Given the description of an element on the screen output the (x, y) to click on. 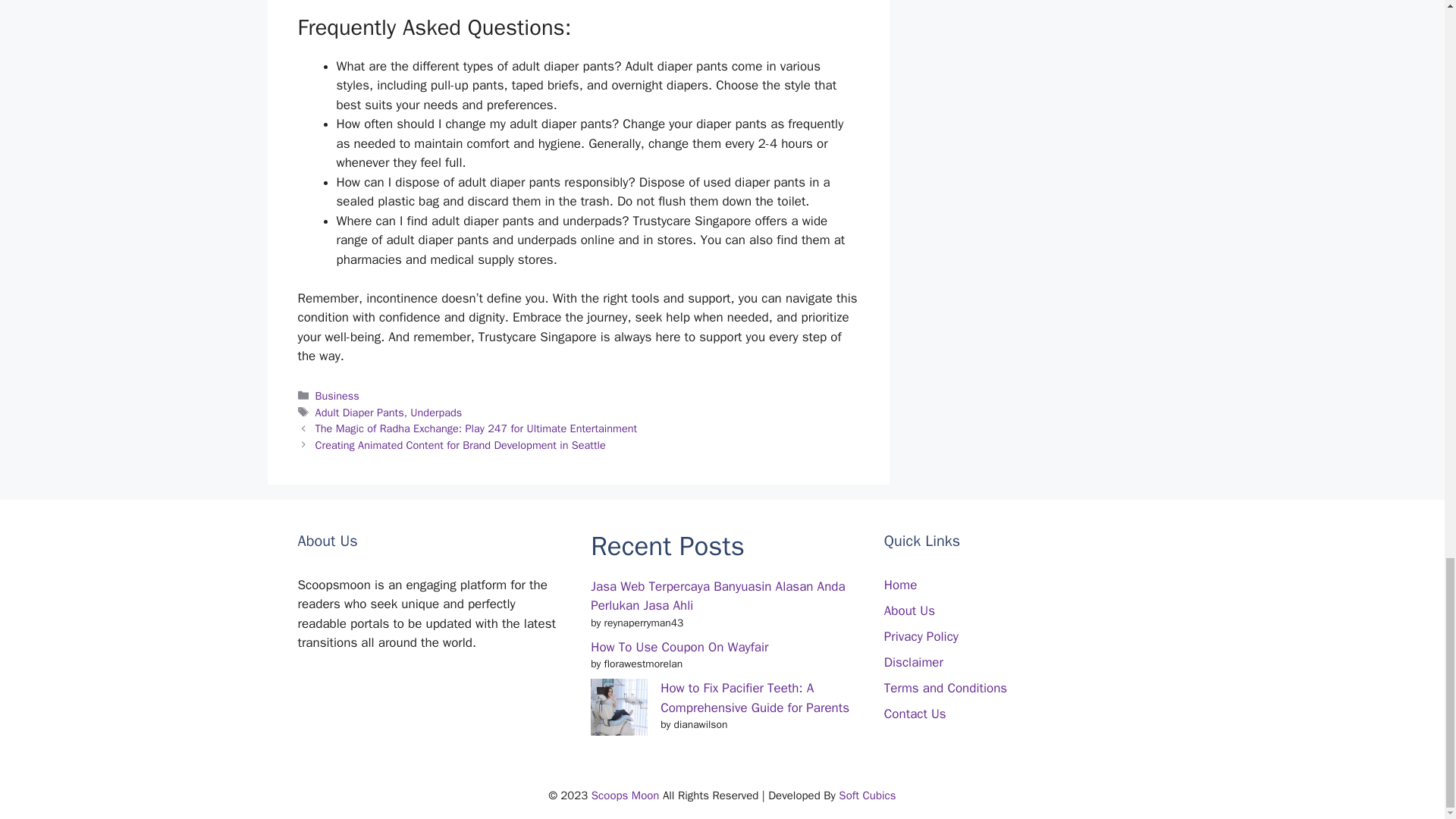
Adult Diaper Pants (359, 412)
How to Fix Pacifier Teeth: A Comprehensive Guide for Parents (754, 697)
Underpads (435, 412)
Business (337, 395)
Creating Animated Content for Brand Development in Seattle (460, 445)
How To Use Coupon On Wayfair (679, 647)
Jasa Web Terpercaya Banyuasin Alasan Anda Perlukan Jasa Ahli (717, 596)
